Given the description of an element on the screen output the (x, y) to click on. 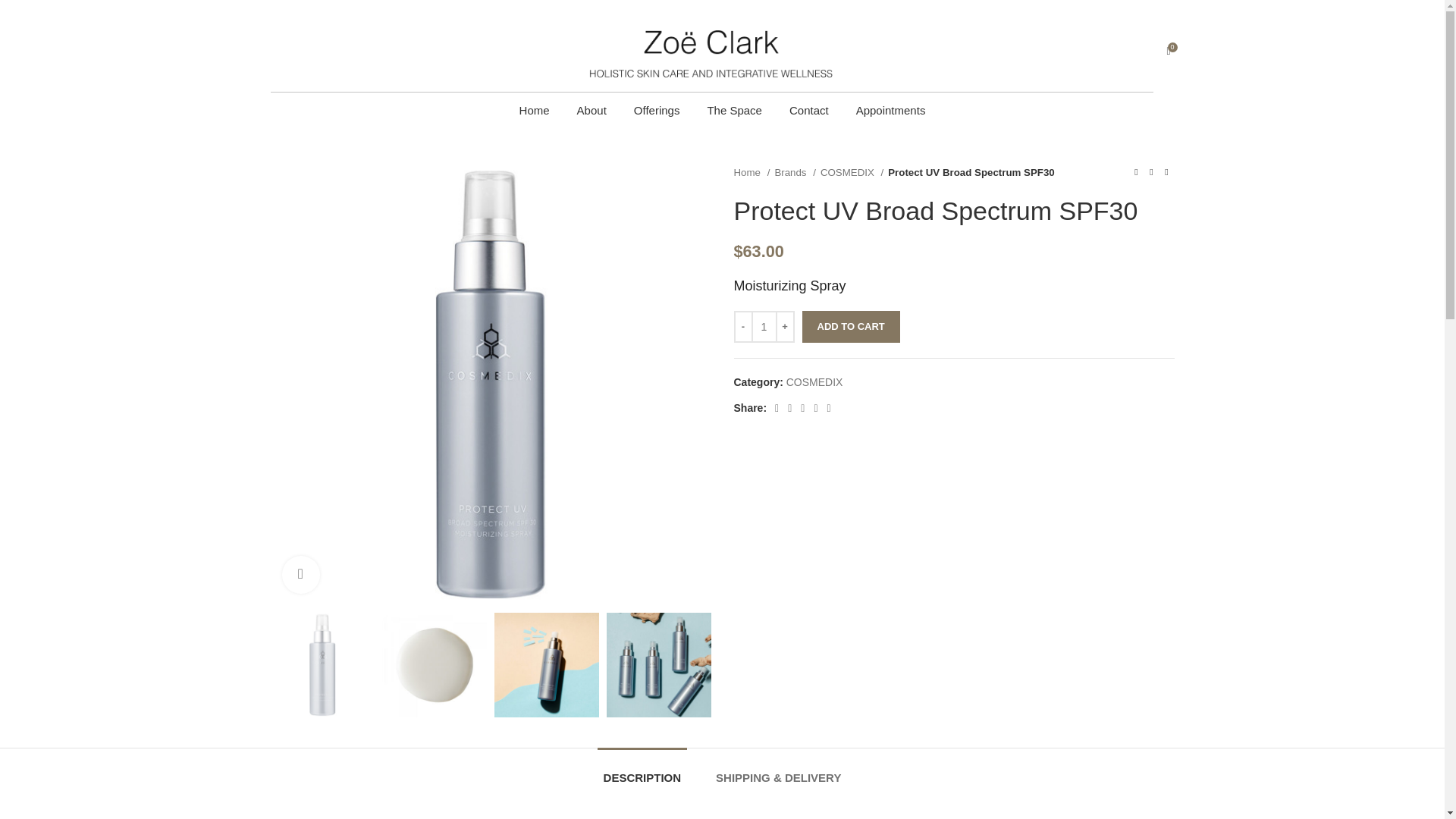
COSMEDIX (814, 381)
About (591, 110)
ADD TO CART (850, 327)
Appointments (890, 110)
Home (751, 172)
APPLICATION (436, 817)
DESCRIPTION (641, 770)
Home (534, 110)
Contact (808, 110)
Brands (794, 172)
COSMEDIX (852, 172)
Offerings (656, 110)
WHY IT WORKS (326, 817)
INGREDIENTS (539, 817)
The Space (734, 110)
